Given the description of an element on the screen output the (x, y) to click on. 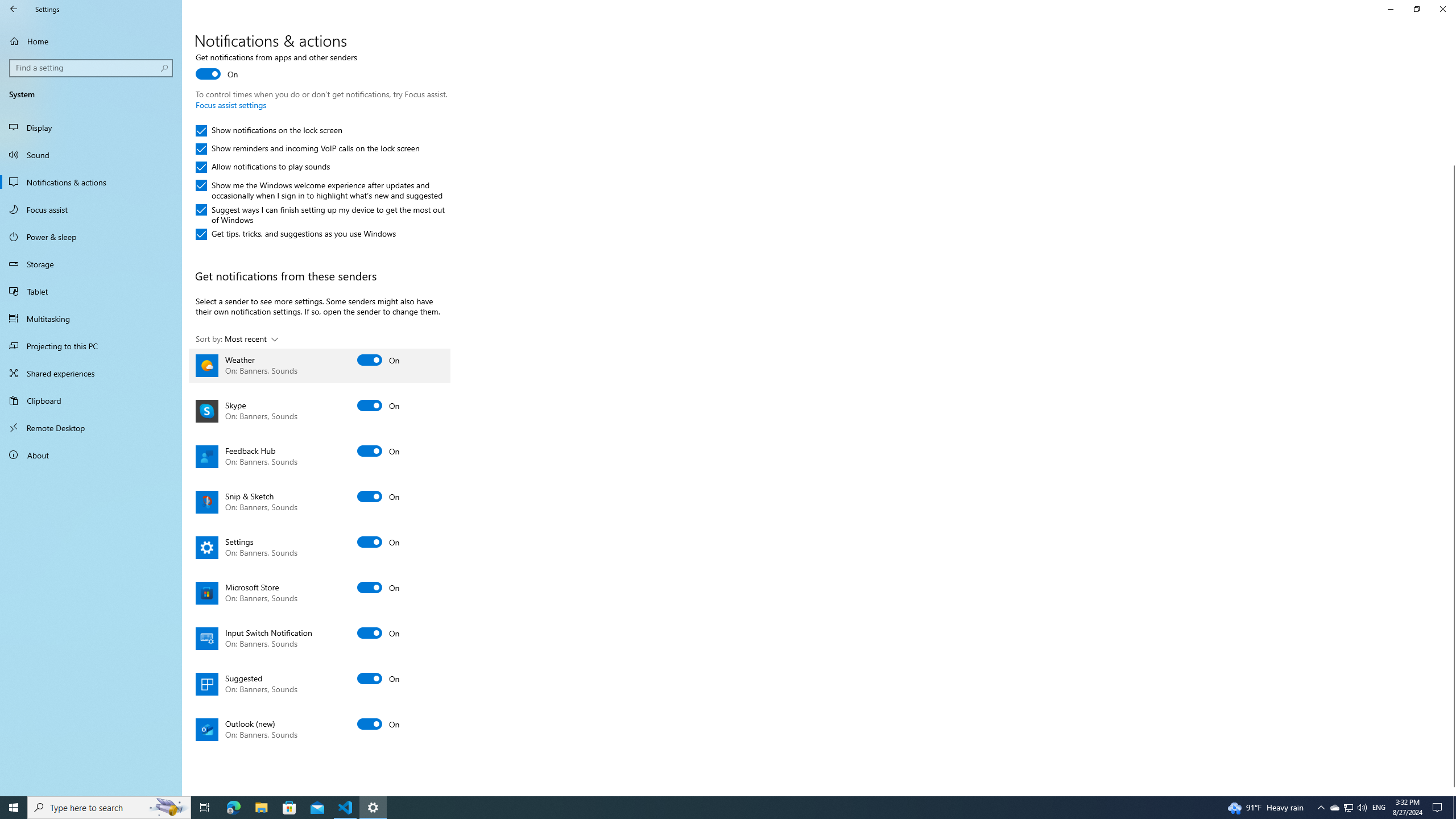
Suggested (319, 684)
Notification Chevron (1320, 807)
Clipboard (91, 400)
Allow notifications to play sounds (262, 167)
Sound (91, 154)
Vertical Small Increase (1451, 791)
Close Settings (1442, 9)
Input Switch Notification (319, 638)
Skype (319, 410)
Show reminders and incoming VoIP calls on the lock screen (307, 149)
Show notifications on the lock screen (269, 131)
Running applications (706, 807)
Storage (91, 263)
Focus assist settings (230, 104)
